Given the description of an element on the screen output the (x, y) to click on. 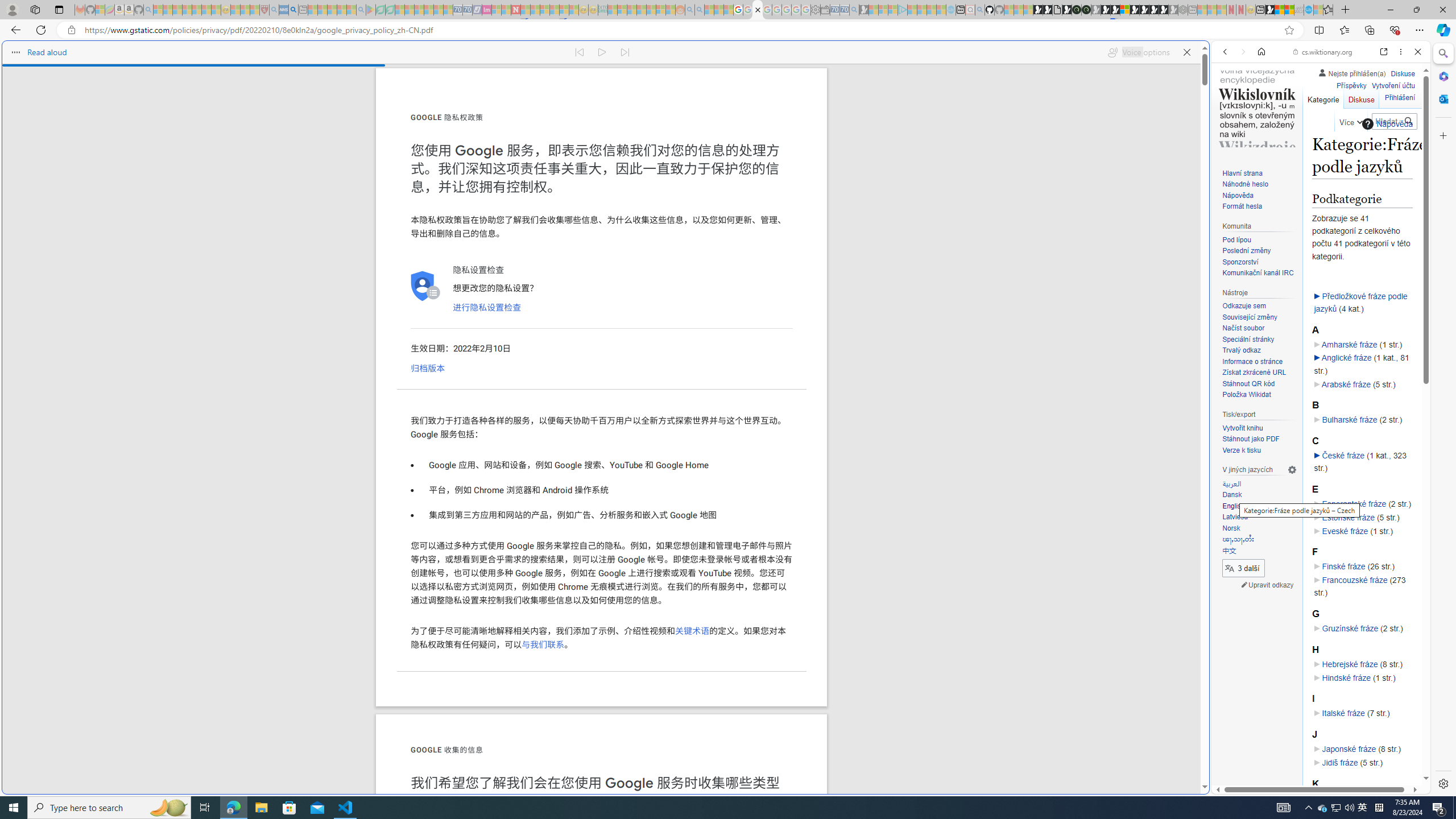
Norsk (1259, 528)
Play Cave FRVR in your browser | Games from Microsoft Start (922, 242)
Search the web (1326, 78)
Jobs - lastminute.com Investor Portal - Sleeping (486, 9)
Dansk (1231, 494)
Kategorie (1323, 96)
MSN (1269, 9)
Expert Portfolios - Sleeping (640, 9)
